Given the description of an element on the screen output the (x, y) to click on. 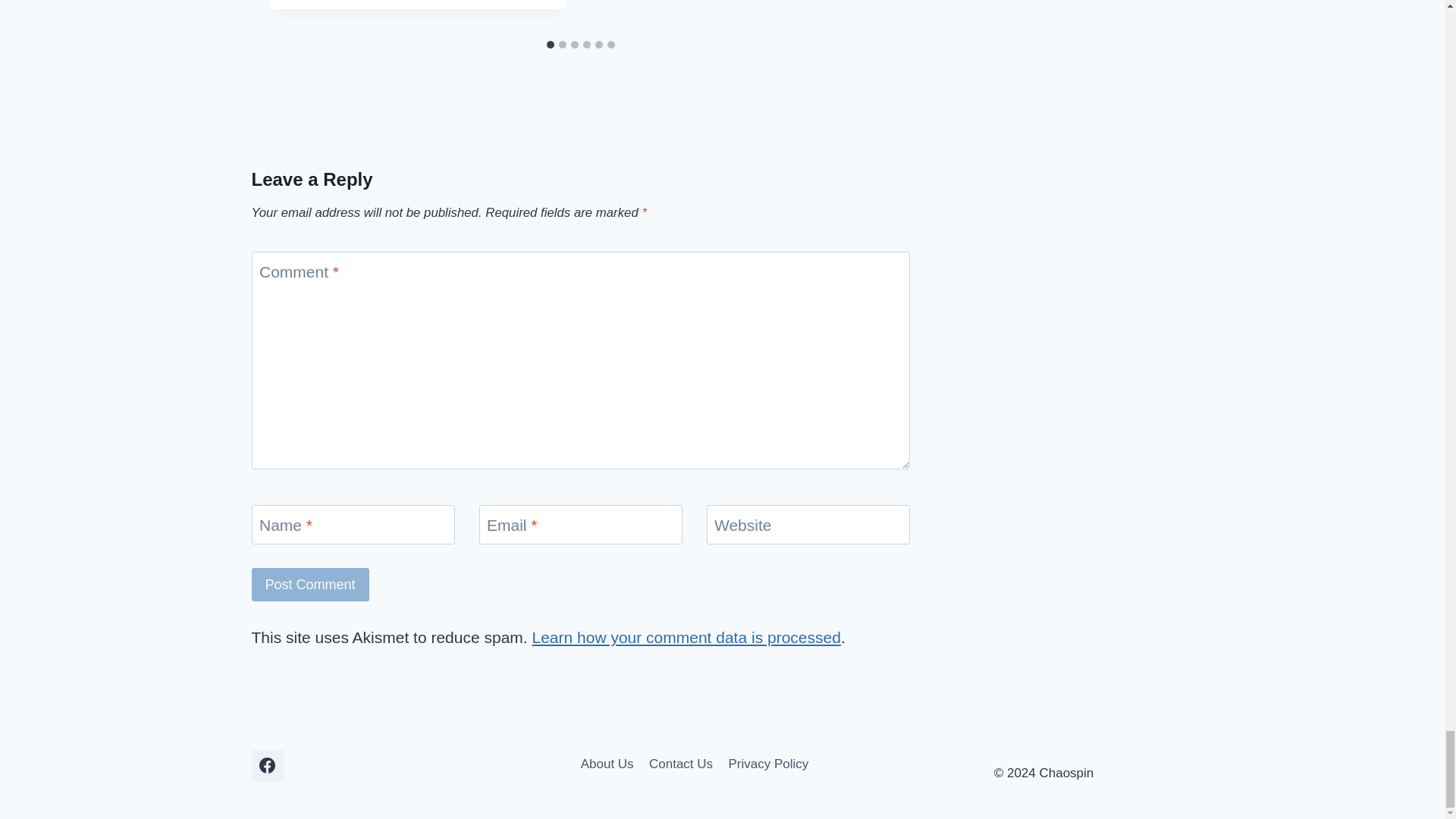
Post Comment (310, 584)
